Given the description of an element on the screen output the (x, y) to click on. 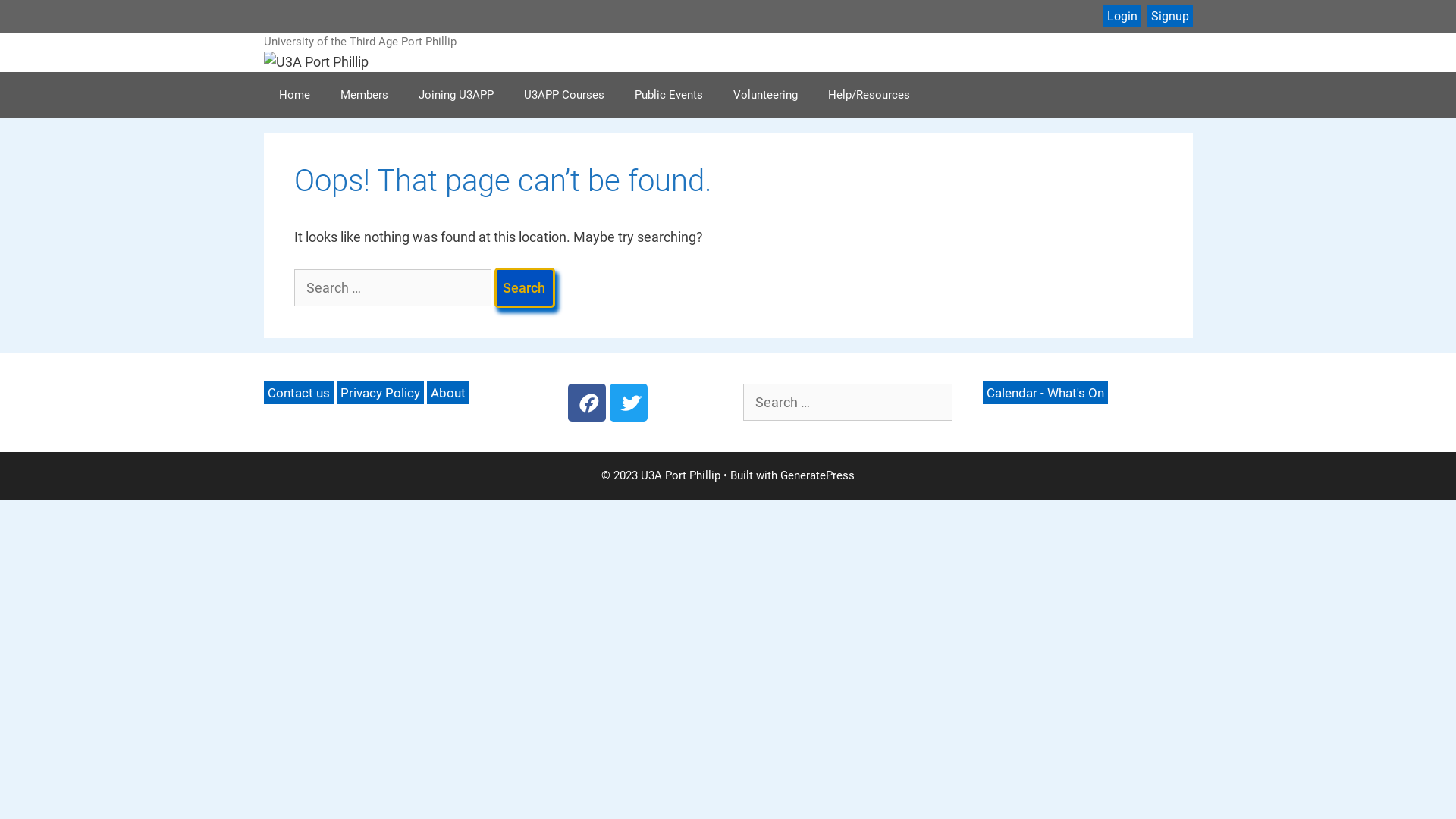
Joining U3APP Element type: text (455, 94)
Privacy Policy Element type: text (379, 392)
Contact us Element type: text (298, 392)
Members Element type: text (363, 94)
Login Element type: text (1121, 16)
Search for: Element type: hover (392, 287)
Search for: Element type: hover (847, 401)
Signup Element type: text (1169, 16)
Volunteering Element type: text (764, 94)
Home Element type: text (294, 94)
About Element type: text (447, 392)
Public Events Element type: text (667, 94)
Search Element type: text (30, 20)
Help/Resources Element type: text (868, 94)
U3APP Courses Element type: text (563, 94)
Calendar - What's On Element type: text (1044, 392)
GeneratePress Element type: text (817, 475)
Search Element type: text (524, 287)
